Given the description of an element on the screen output the (x, y) to click on. 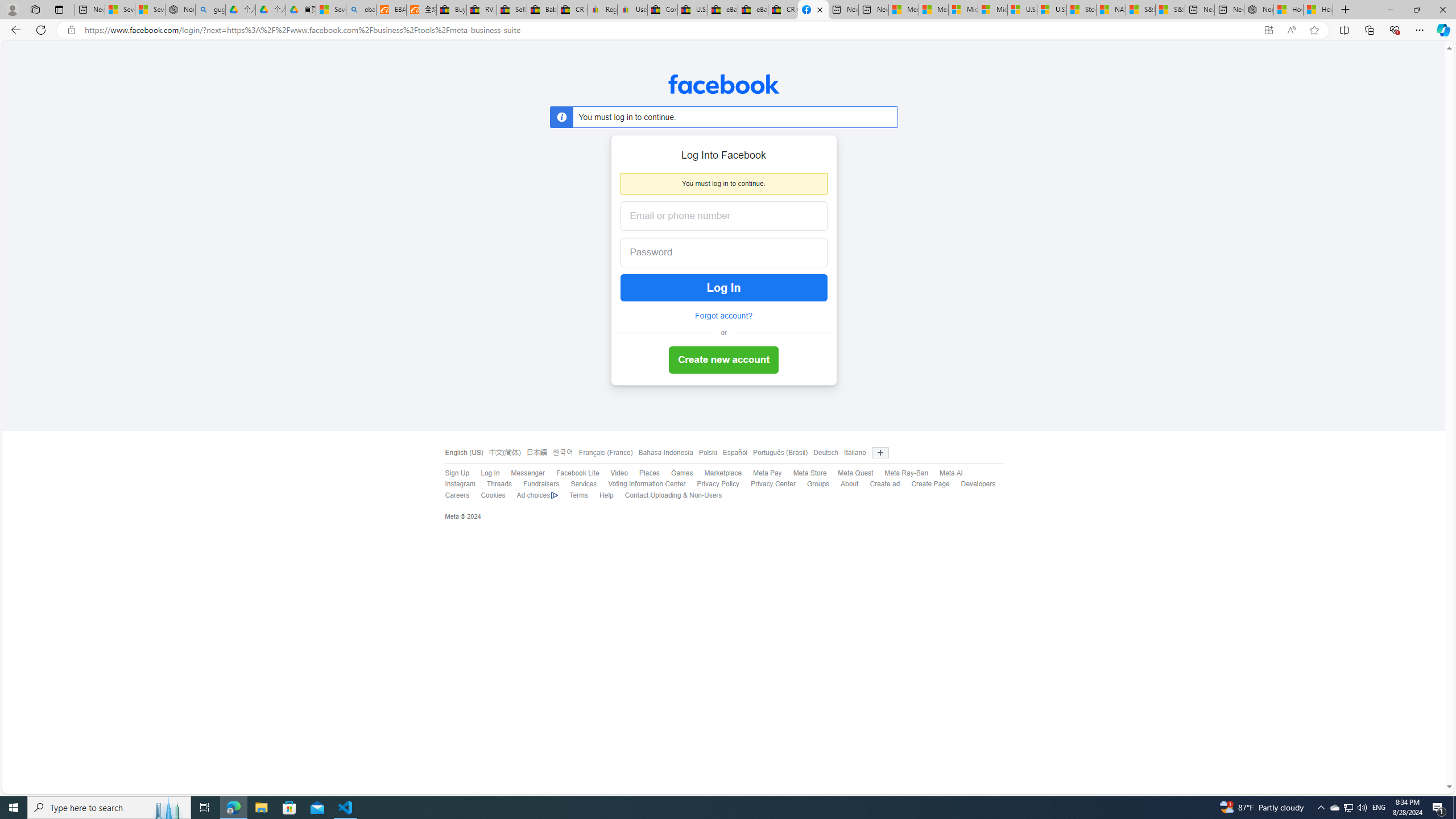
Italiano (855, 452)
Threads (499, 483)
Log In (483, 473)
